Given the description of an element on the screen output the (x, y) to click on. 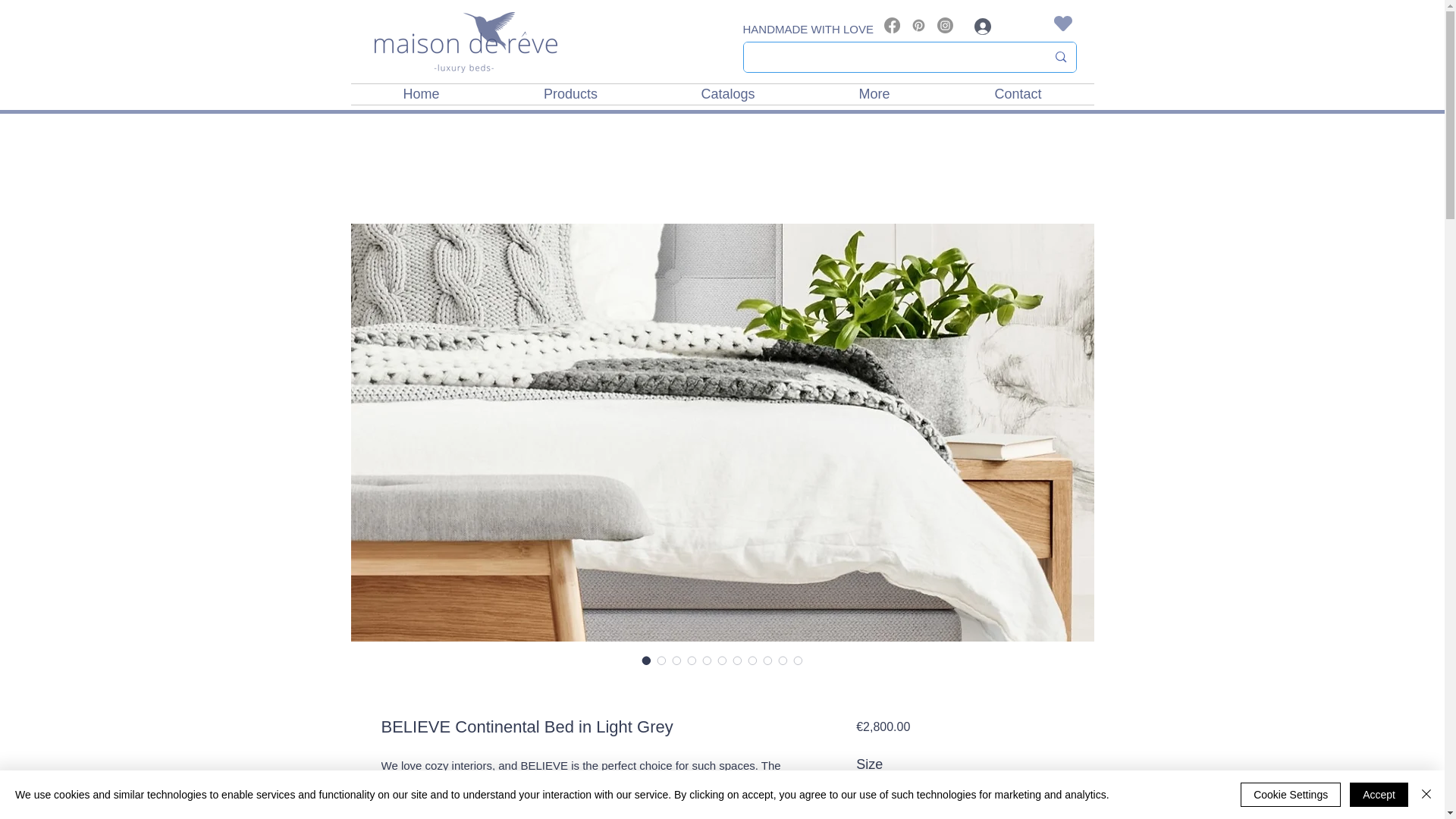
Select (959, 798)
Home (421, 94)
Contact (1017, 94)
Log In (1002, 26)
Accept (1378, 794)
Catalogs (727, 94)
Cookie Settings (1290, 794)
Products (570, 94)
More (874, 94)
